Given the description of an element on the screen output the (x, y) to click on. 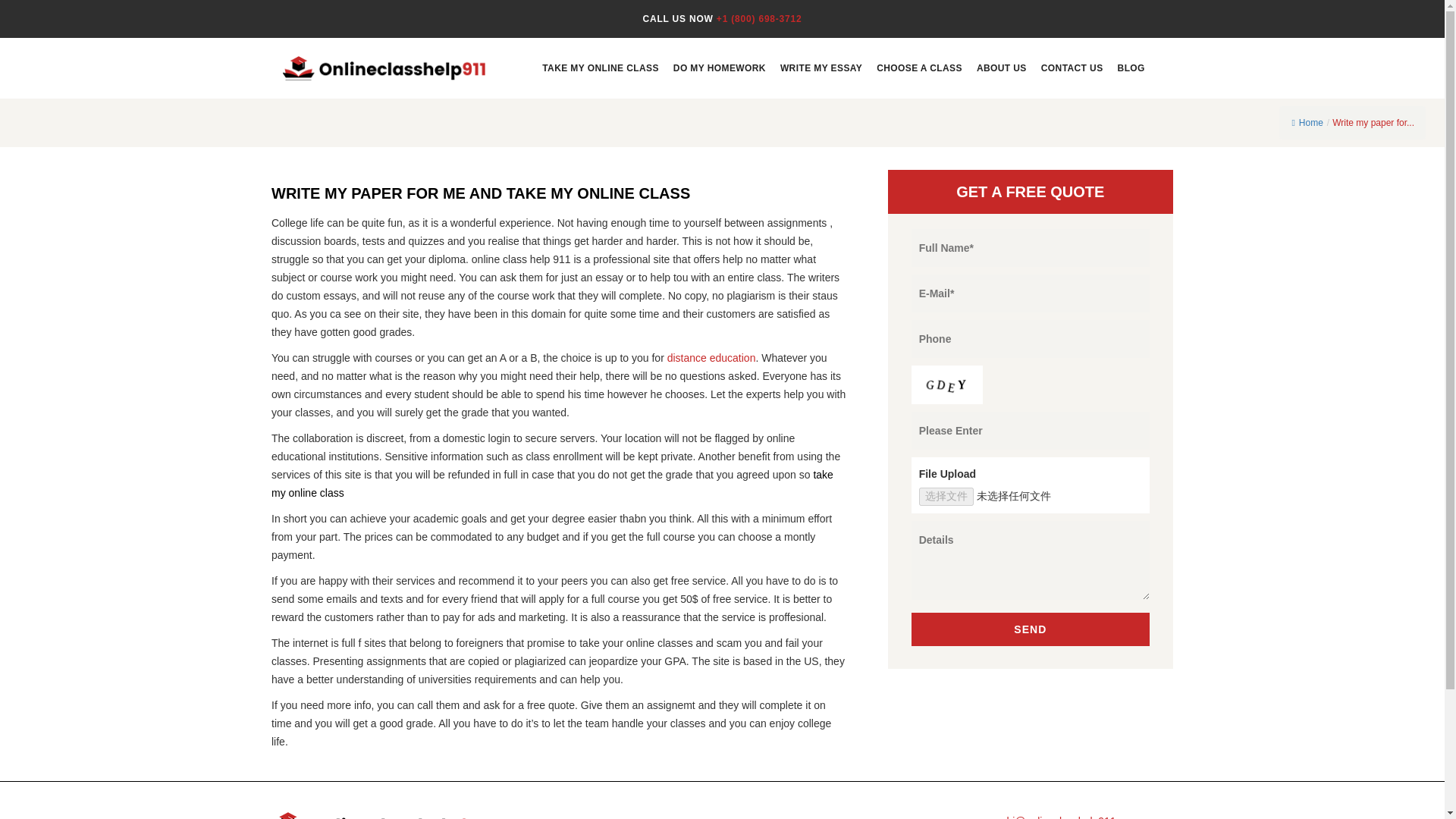
Send (1030, 629)
DO MY HOMEWORK (719, 67)
CHOOSE A CLASS (919, 67)
WRITE MY ESSAY (821, 67)
CONTACT US (1071, 67)
Send (1030, 629)
Home (1306, 122)
ABOUT US (1001, 67)
BLOG (1130, 67)
distance education (709, 357)
take my online class (551, 483)
TAKE MY ONLINE CLASS (599, 67)
Write my paper for me and take my online class (1372, 122)
